Given the description of an element on the screen output the (x, y) to click on. 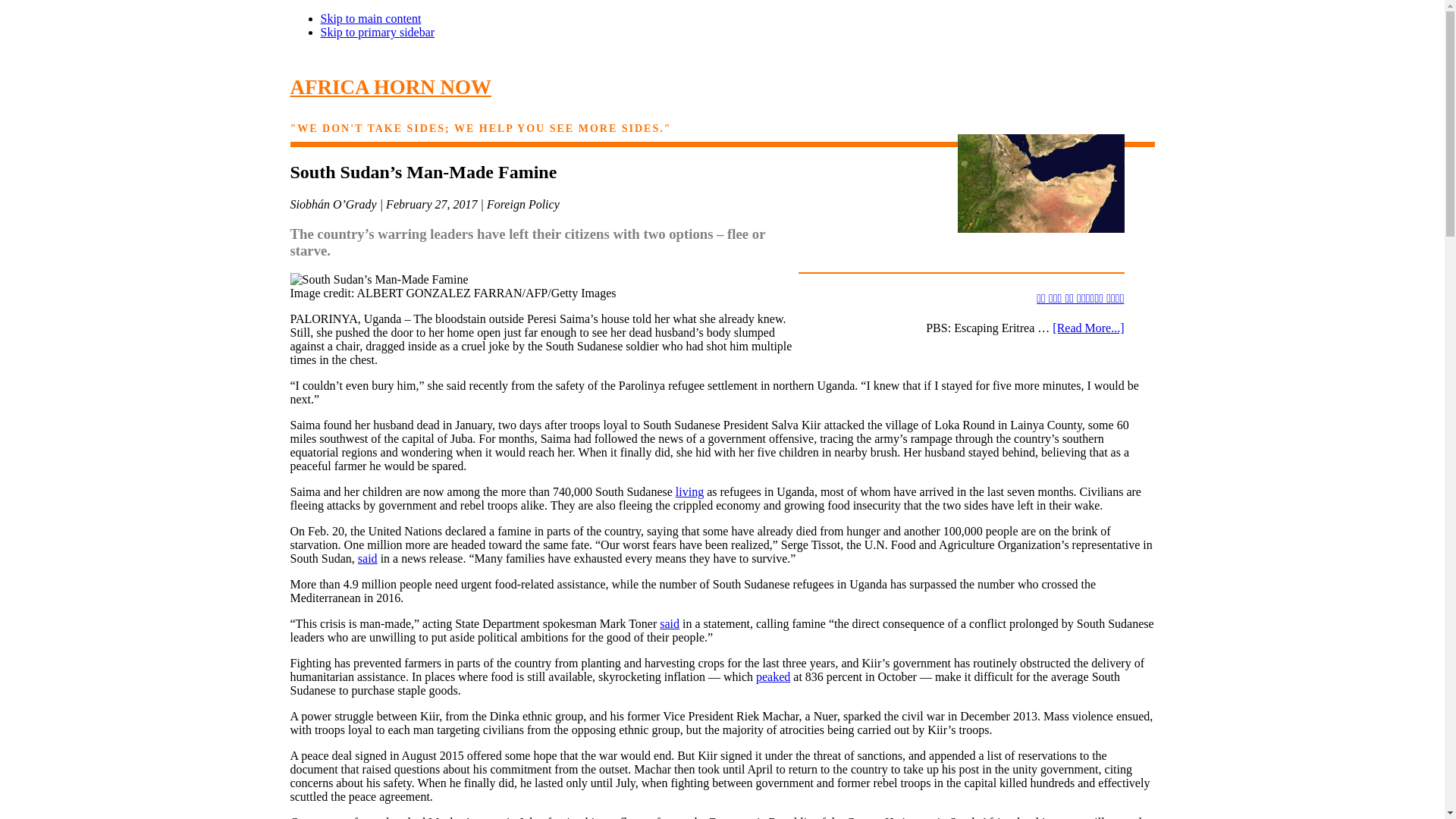
said (367, 558)
peaked (772, 676)
living (689, 491)
Skip to main content (370, 18)
Skip to primary sidebar (376, 31)
said (669, 623)
AFRICA HORN NOW (390, 87)
